Given the description of an element on the screen output the (x, y) to click on. 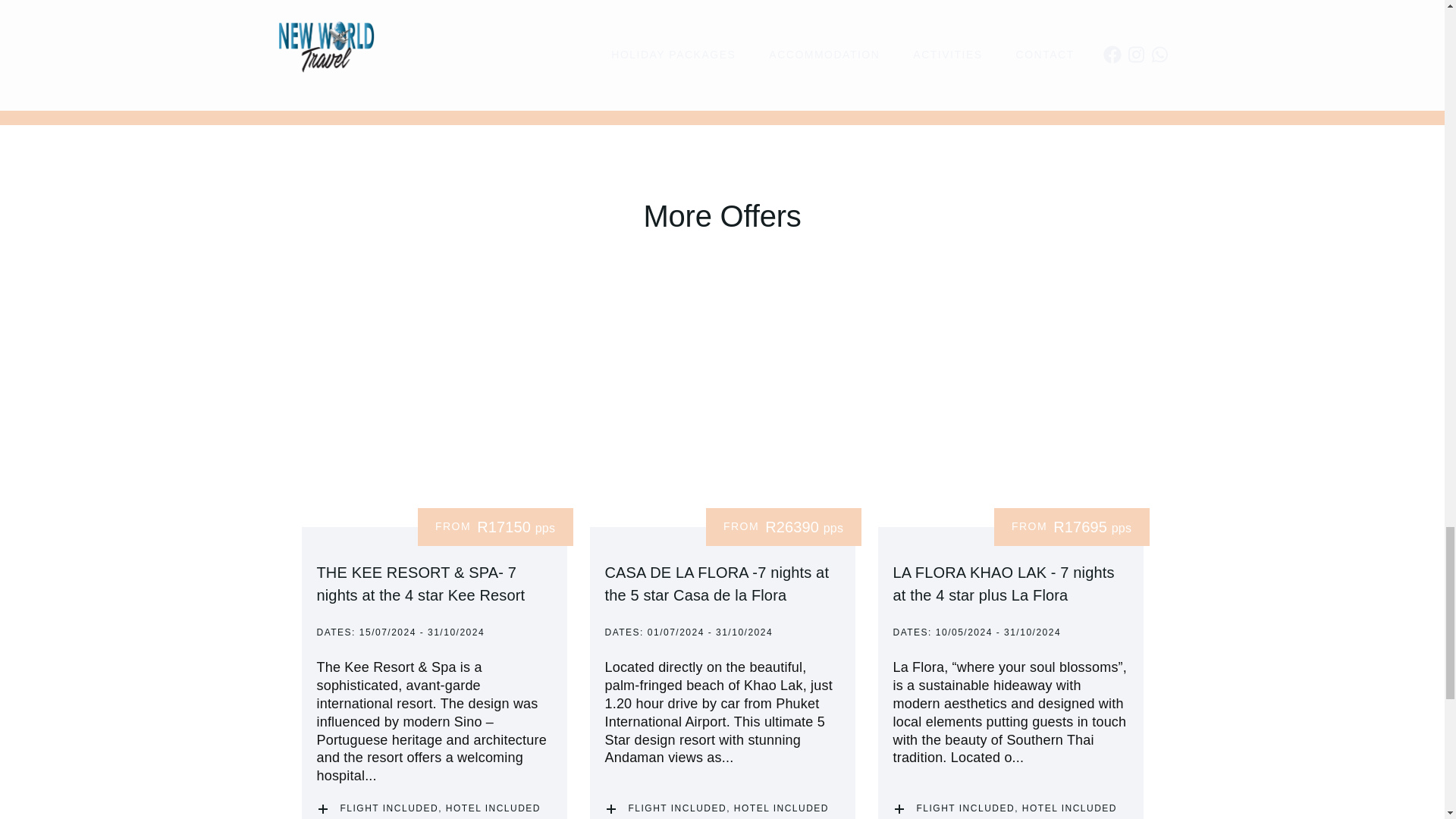
SUBMIT (877, 22)
